Given the description of an element on the screen output the (x, y) to click on. 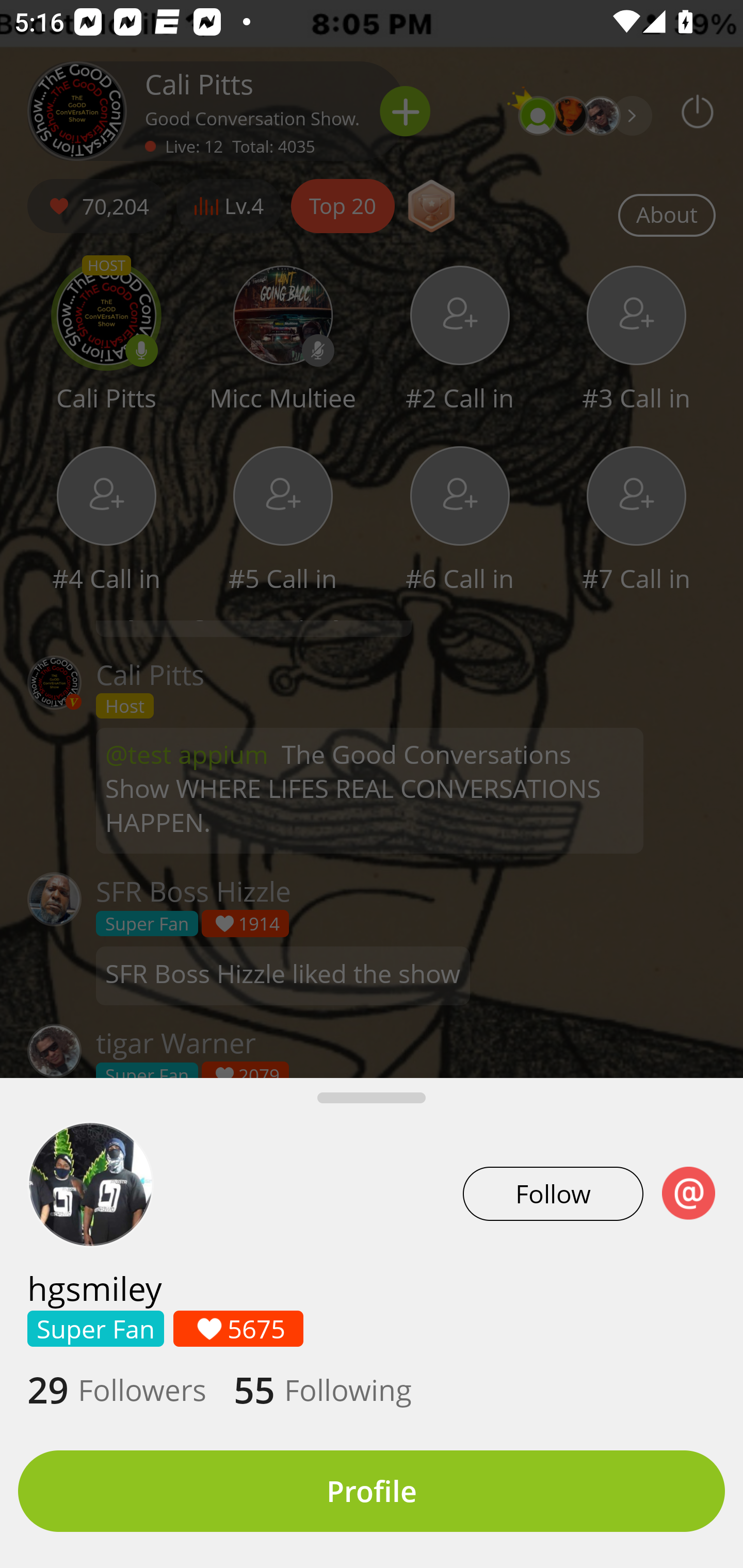
Follow (552, 1193)
Profile (371, 1490)
